Given the description of an element on the screen output the (x, y) to click on. 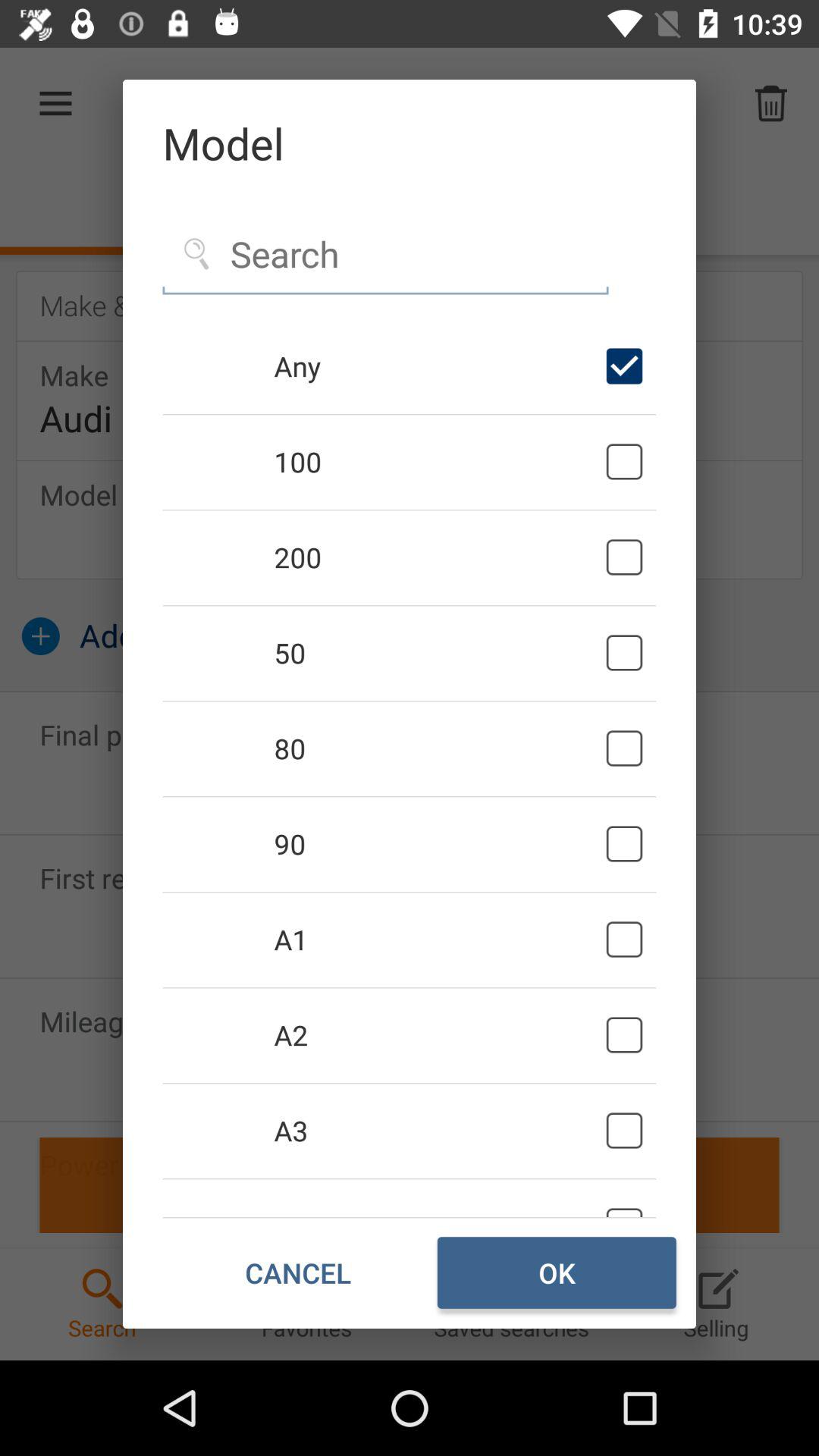
press the icon above 90 item (437, 748)
